Given the description of an element on the screen output the (x, y) to click on. 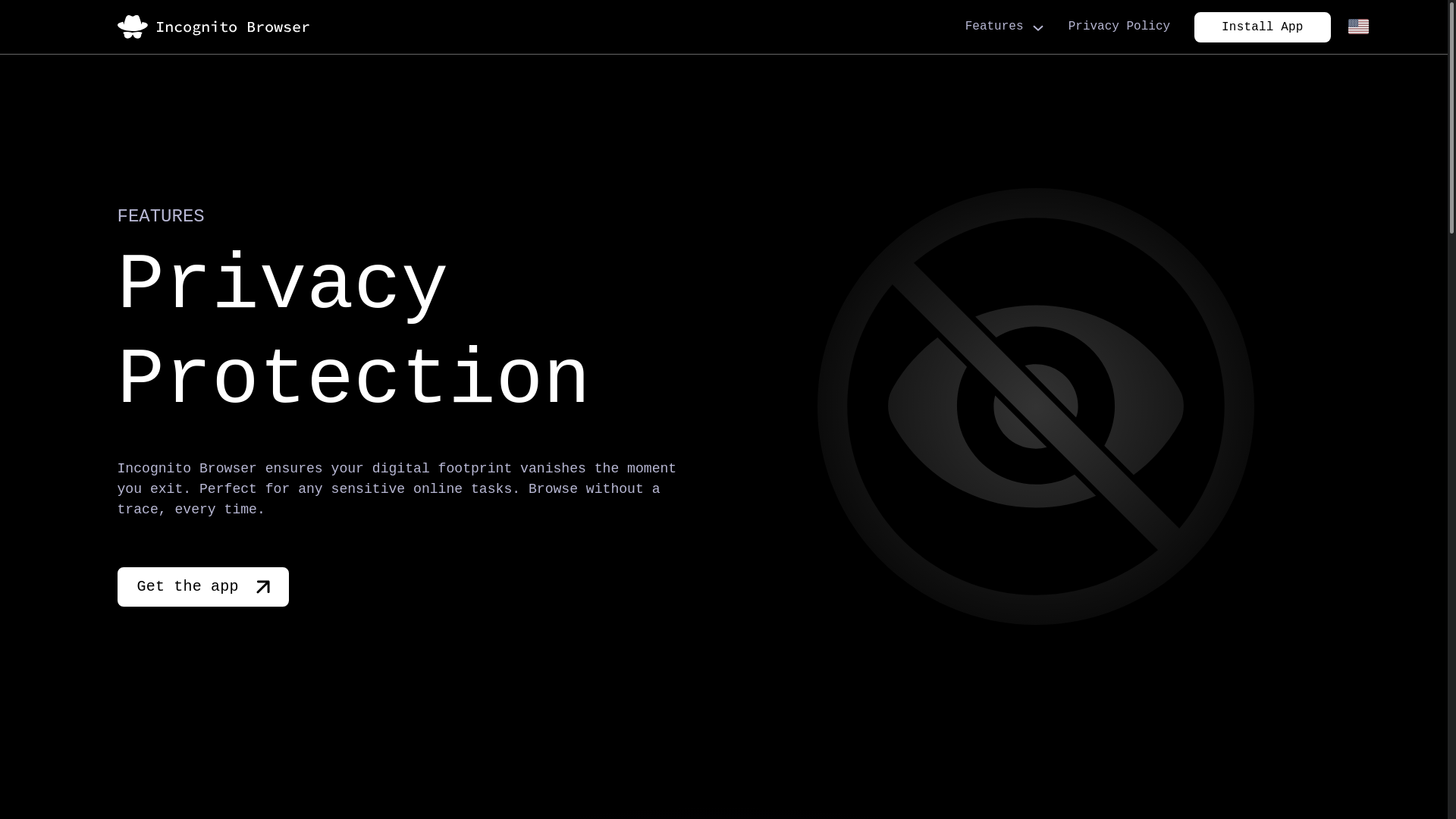
Install App (1261, 27)
Features   (1001, 27)
Privacy Policy (1119, 27)
Get the app (202, 586)
